Given the description of an element on the screen output the (x, y) to click on. 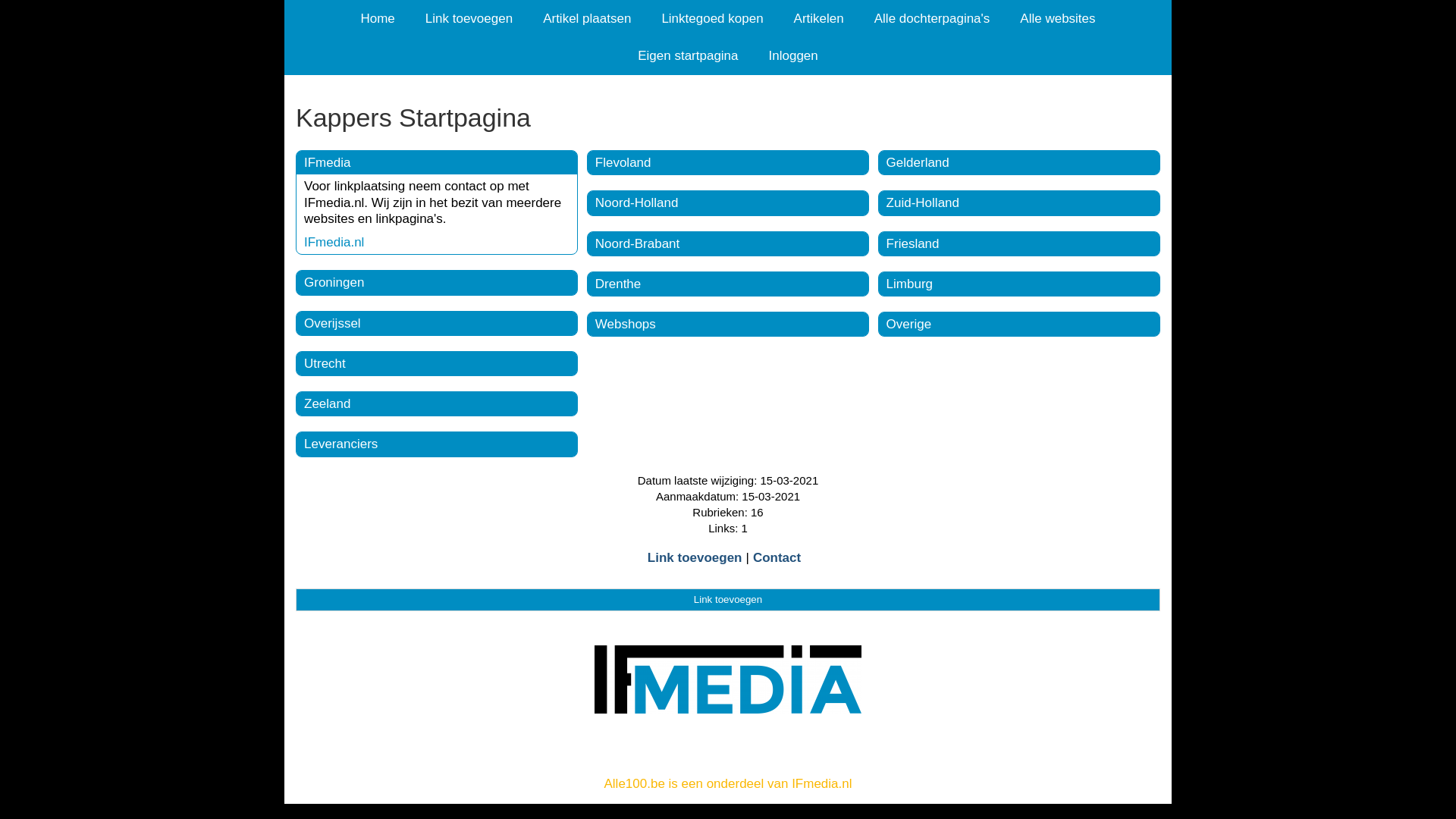
IFmedia.nl Element type: text (334, 242)
Alle websites Element type: text (1057, 18)
Inloggen Element type: text (793, 55)
Artikelen Element type: text (818, 18)
Kappers Startpagina Element type: text (727, 117)
Link toevoegen Element type: text (727, 599)
Home Element type: text (377, 18)
Link toevoegen Element type: text (468, 18)
Artikel plaatsen Element type: text (586, 18)
Eigen startpagina Element type: text (687, 55)
Linktegoed kopen Element type: text (712, 18)
Link toevoegen Element type: text (694, 557)
Alle dochterpagina's Element type: text (932, 18)
Contact Element type: text (776, 557)
